Given the description of an element on the screen output the (x, y) to click on. 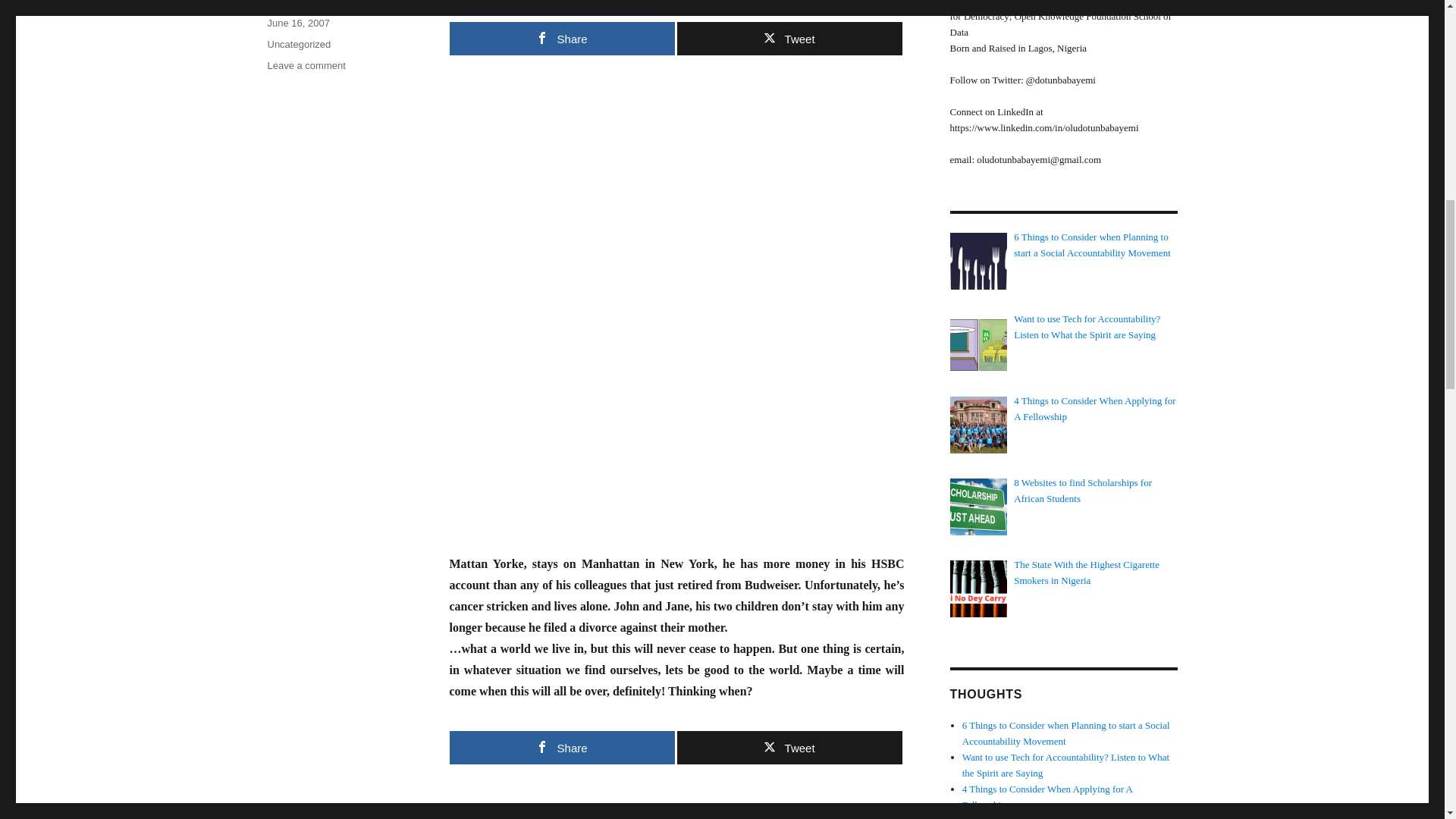
June 16, 2007 (297, 22)
Share (561, 747)
Tweet (305, 65)
Share (789, 747)
Tweet (561, 38)
Uncategorized (789, 38)
